Given the description of an element on the screen output the (x, y) to click on. 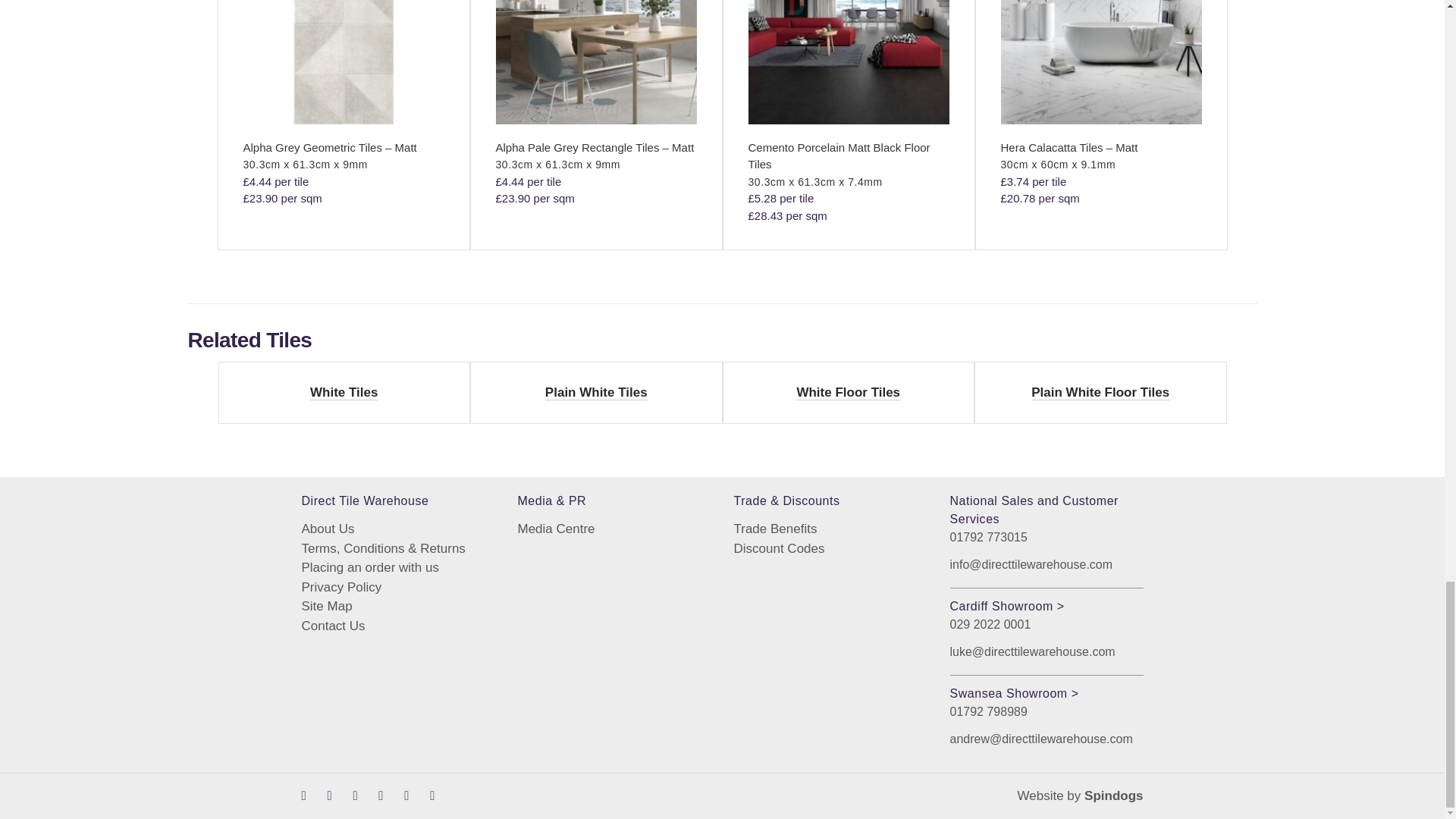
Contact Us (398, 626)
Privacy Policy (398, 587)
White Tiles (343, 392)
Trade Benefits (830, 528)
Placing an order with us (398, 567)
Site Map (398, 606)
Media Centre (613, 528)
About Us (398, 528)
Plain White Tiles (595, 392)
Plain White Floor Tiles (1099, 392)
